Given the description of an element on the screen output the (x, y) to click on. 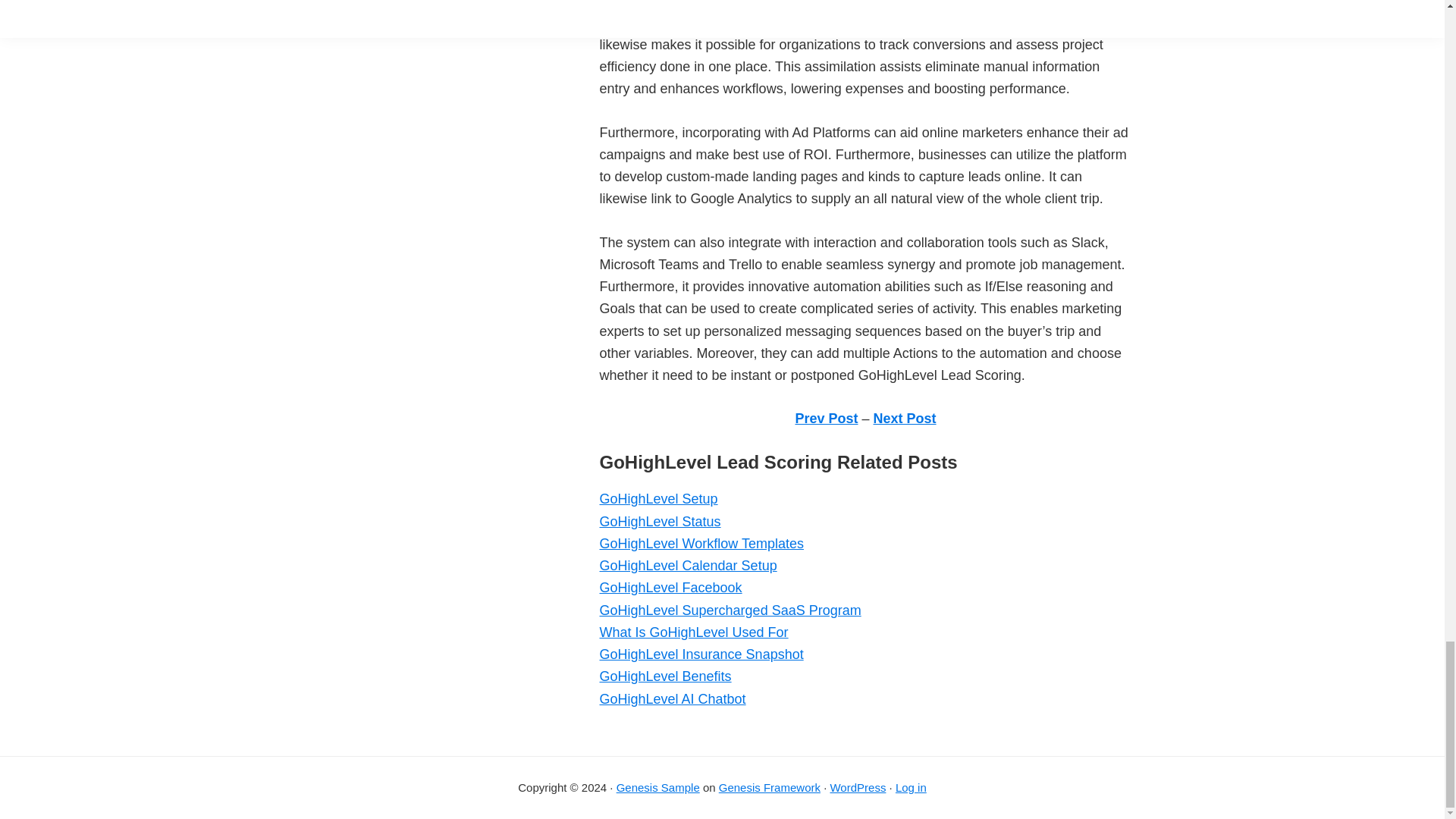
GoHighLevel Setup (657, 498)
GoHighLevel Benefits (664, 676)
GoHighLevel Workflow Templates (700, 543)
GoHighLevel AI Chatbot (671, 698)
GoHighLevel Insurance Snapshot (700, 654)
GoHighLevel Setup (657, 498)
What Is GoHighLevel Used For (692, 631)
GoHighLevel Status (659, 521)
WordPress (857, 787)
GoHighLevel Insurance Snapshot (700, 654)
